Given the description of an element on the screen output the (x, y) to click on. 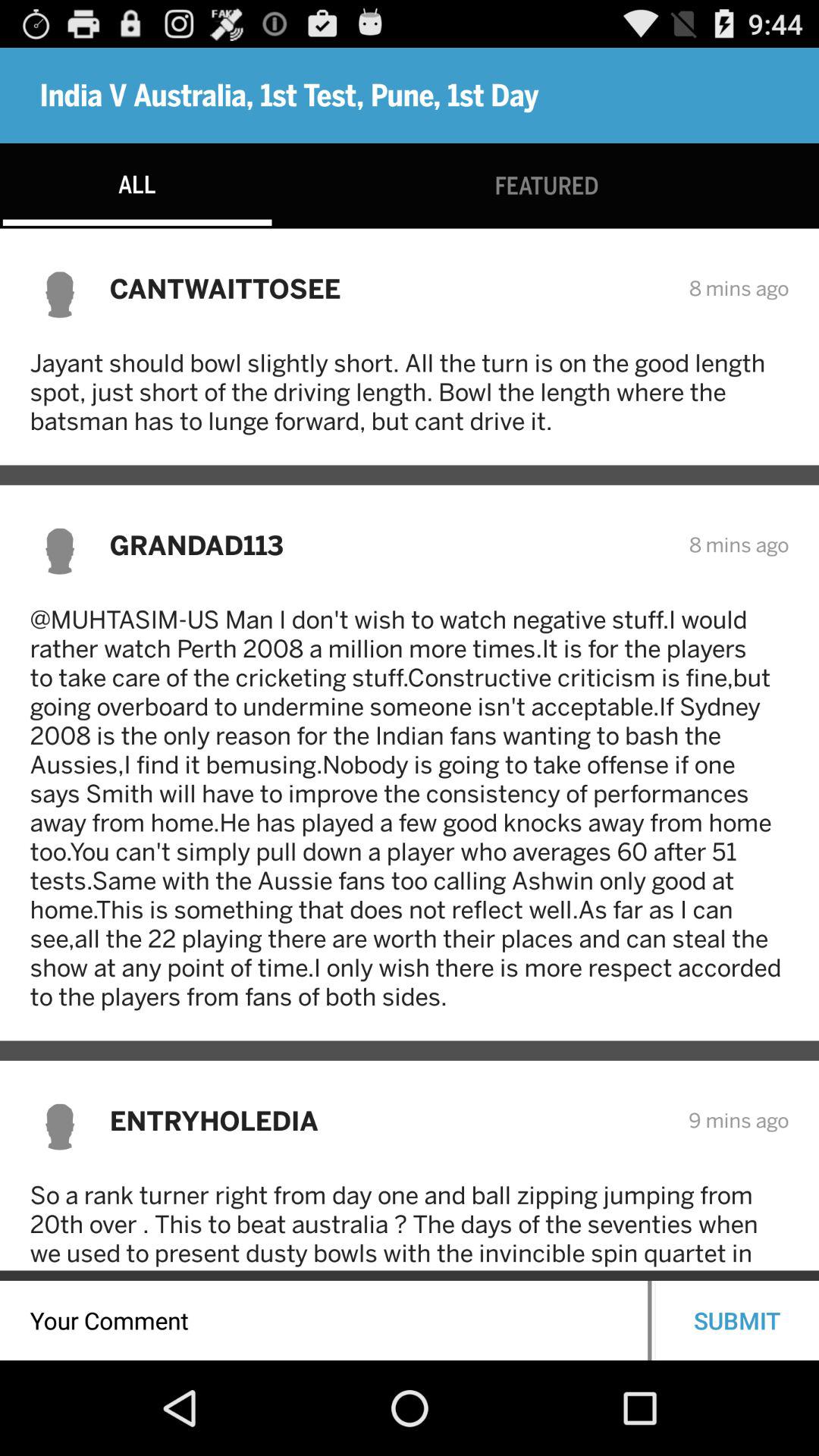
click the icon below so a rank item (323, 1320)
